Given the description of an element on the screen output the (x, y) to click on. 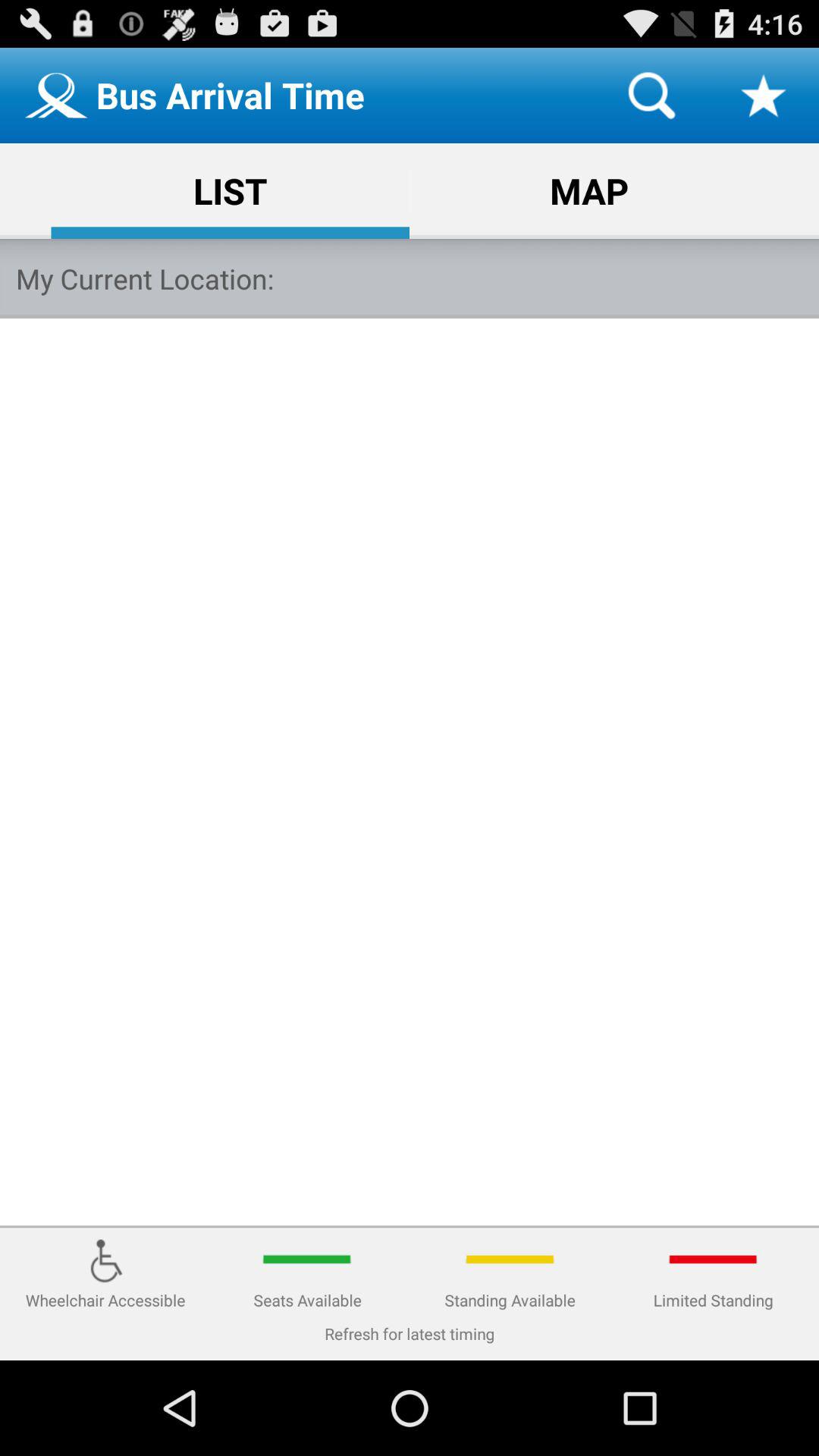
tap the icon below my current location: item (409, 771)
